Given the description of an element on the screen output the (x, y) to click on. 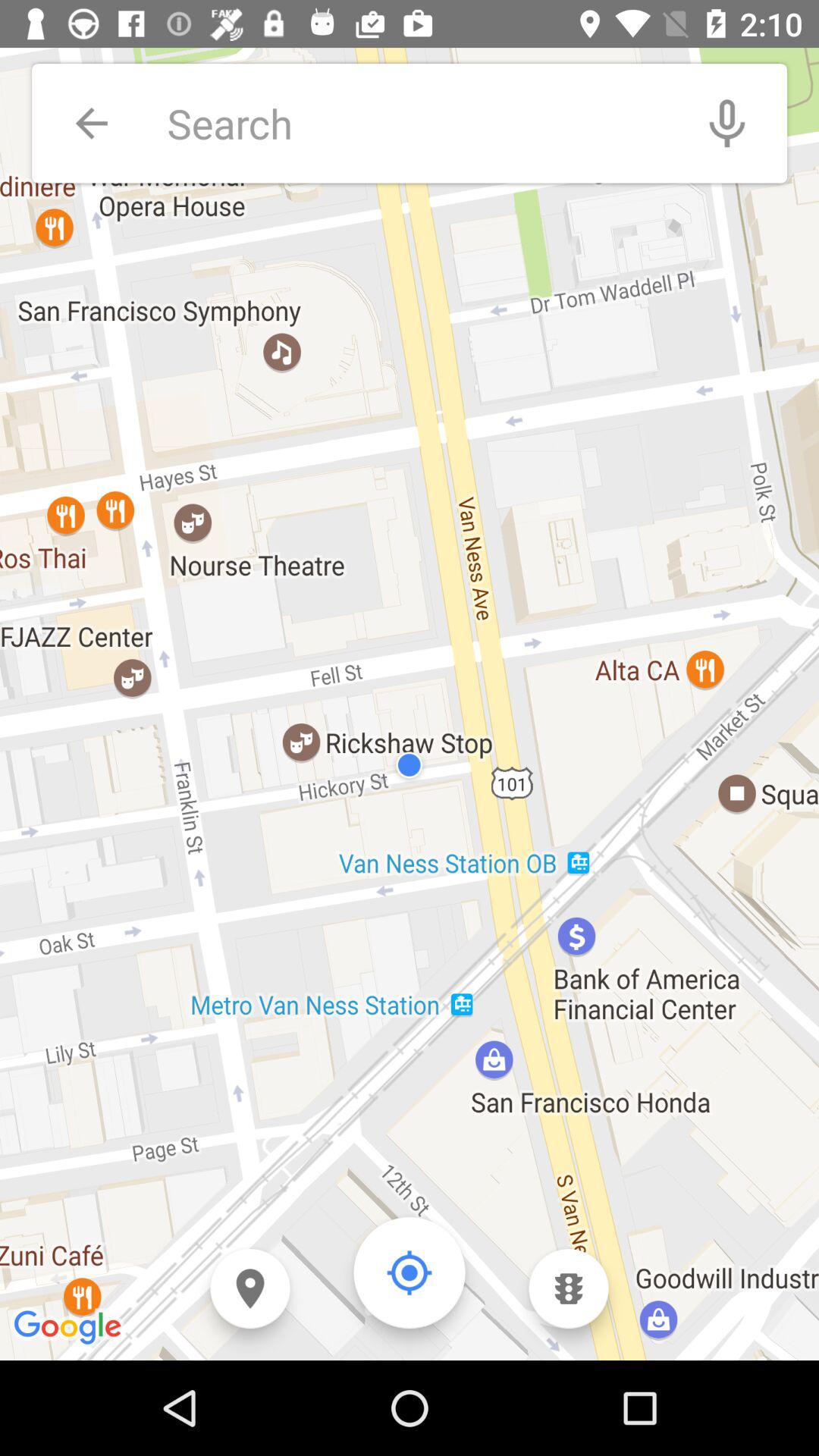
choose the item at the top right corner (727, 123)
